Given the description of an element on the screen output the (x, y) to click on. 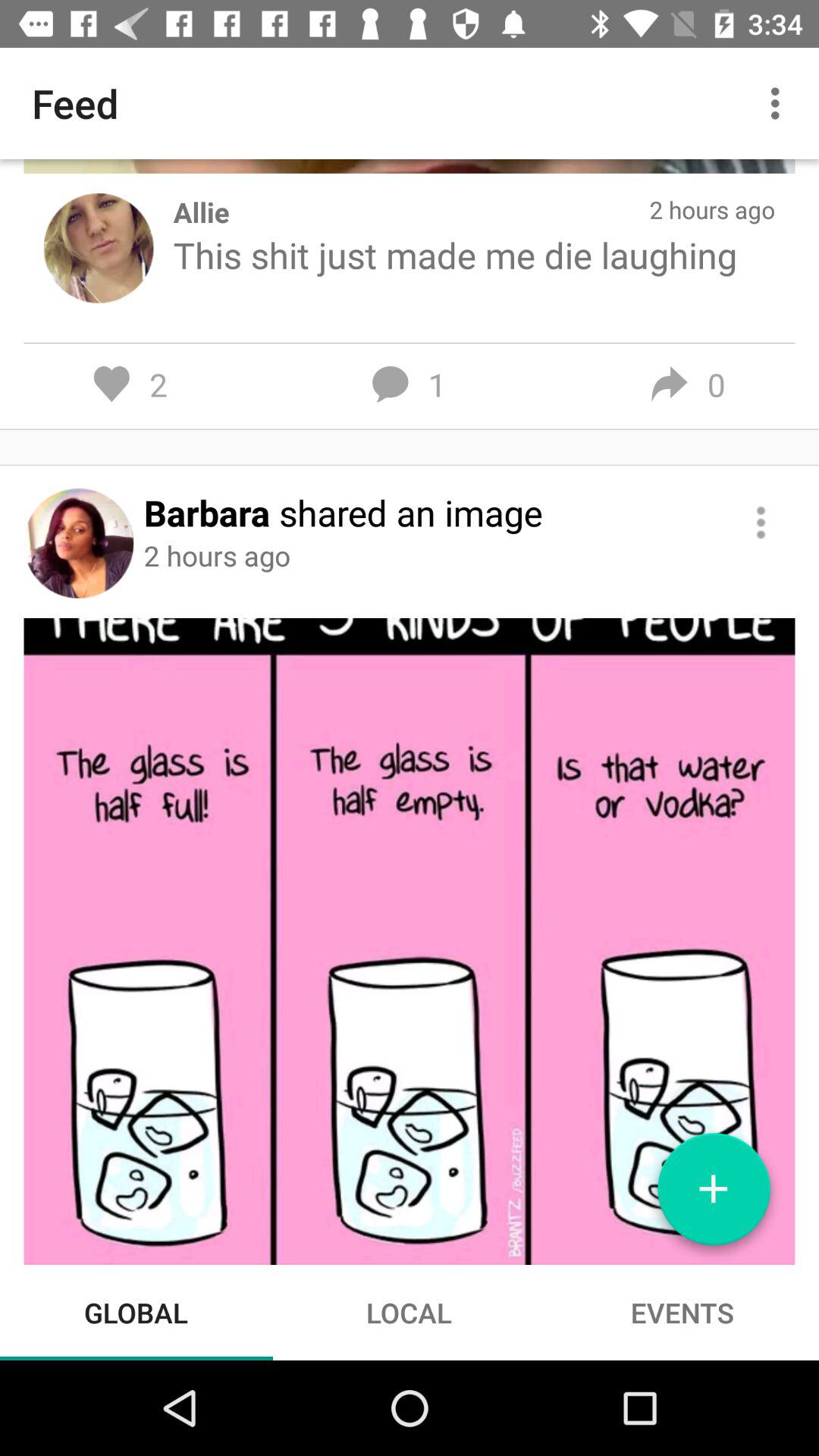
launch the item next to the barbara shared an (760, 522)
